Given the description of an element on the screen output the (x, y) to click on. 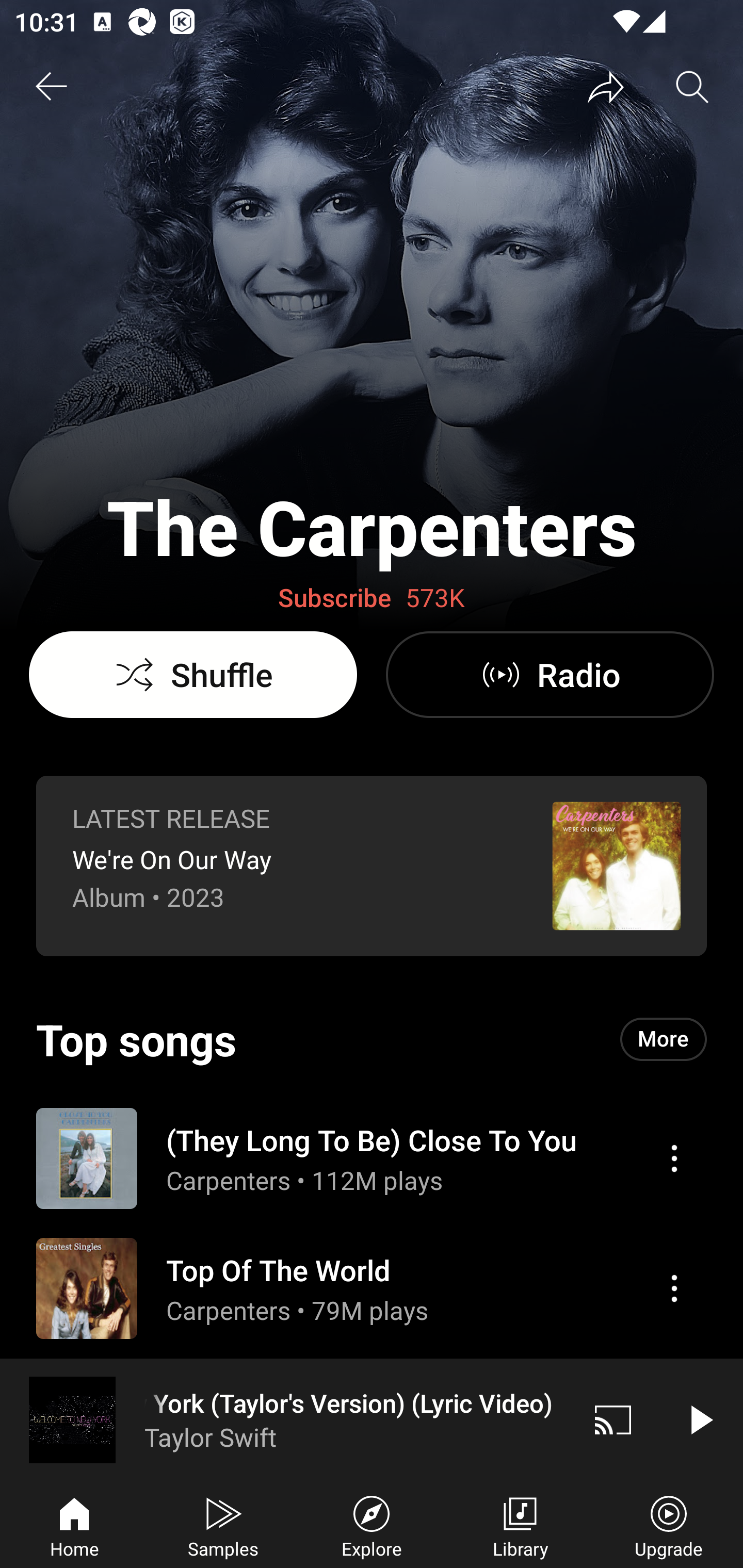
Back (50, 86)
Share (605, 86)
Search (692, 86)
Subscribe 573K (371, 598)
Shuffle (192, 674)
Radio (549, 674)
Action menu (371, 1157)
Action menu (673, 1158)
Action menu (371, 1288)
Action menu (673, 1288)
Cast. Disconnected (612, 1419)
Play video (699, 1419)
Home (74, 1524)
Samples (222, 1524)
Explore (371, 1524)
Library (519, 1524)
Upgrade (668, 1524)
